Given the description of an element on the screen output the (x, y) to click on. 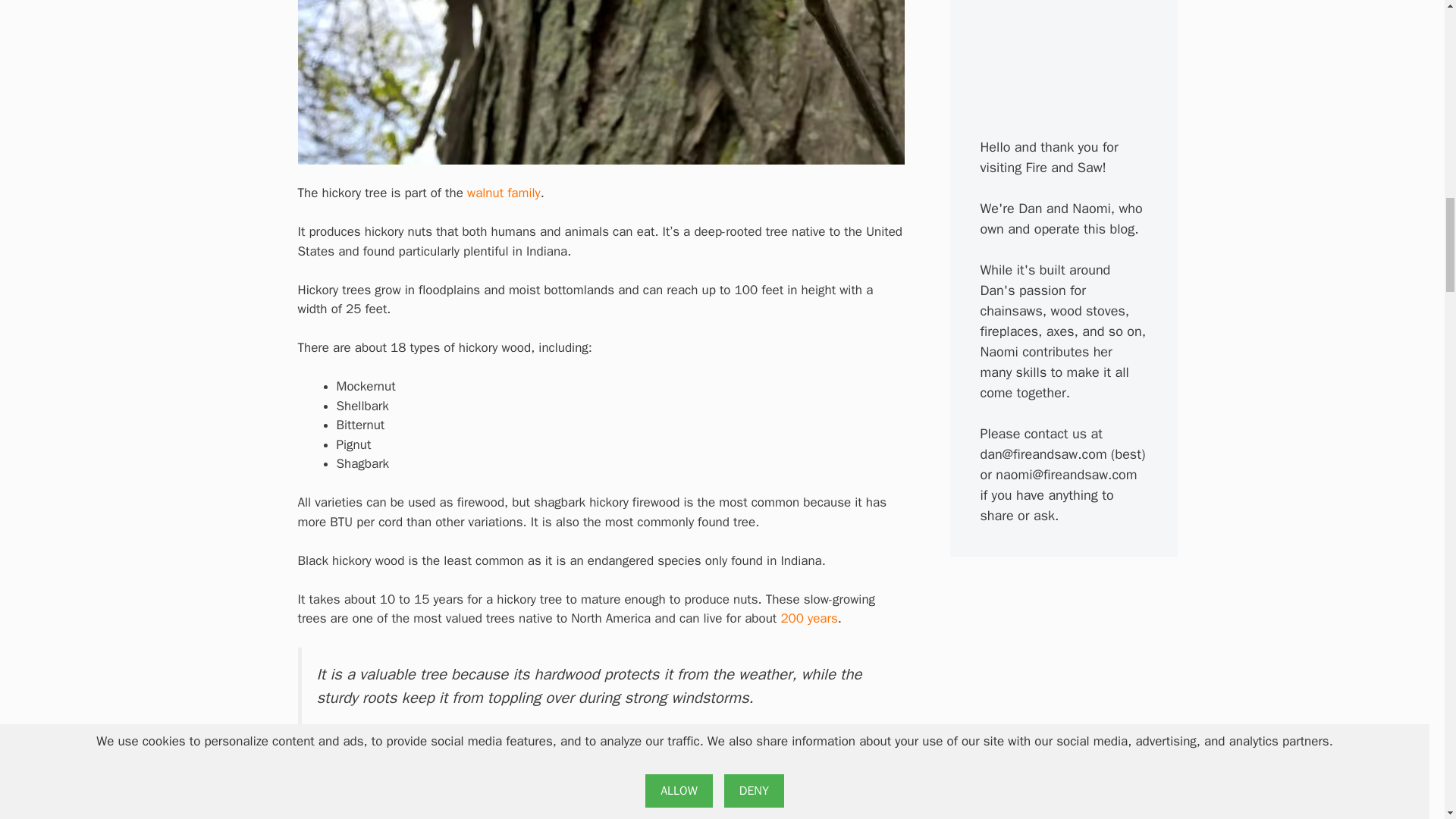
walnut family (503, 192)
200 years (808, 618)
